Given the description of an element on the screen output the (x, y) to click on. 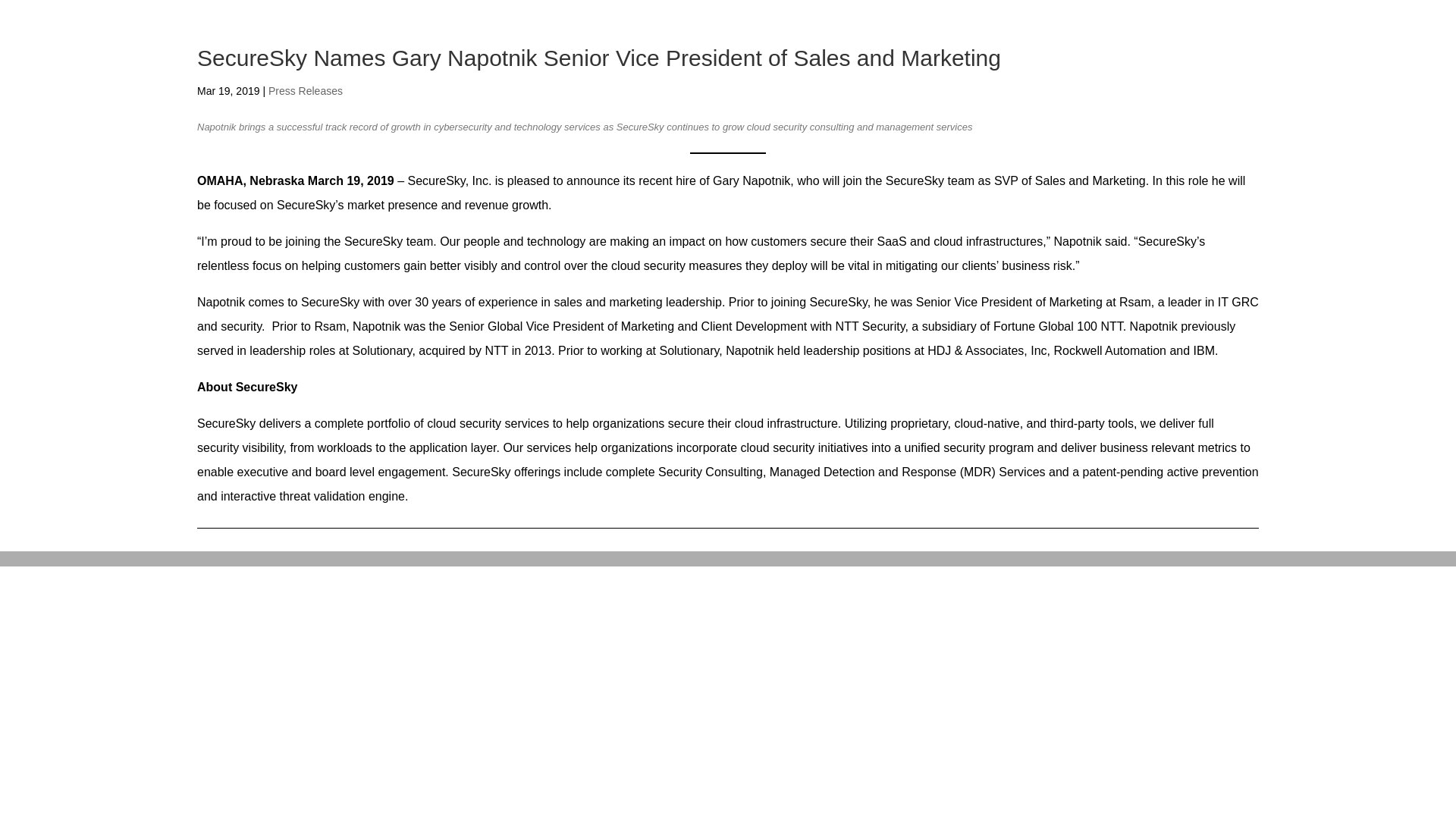
Contact Us (1179, 44)
What We Do (878, 44)
Resources (1054, 44)
About Us (967, 44)
